Given the description of an element on the screen output the (x, y) to click on. 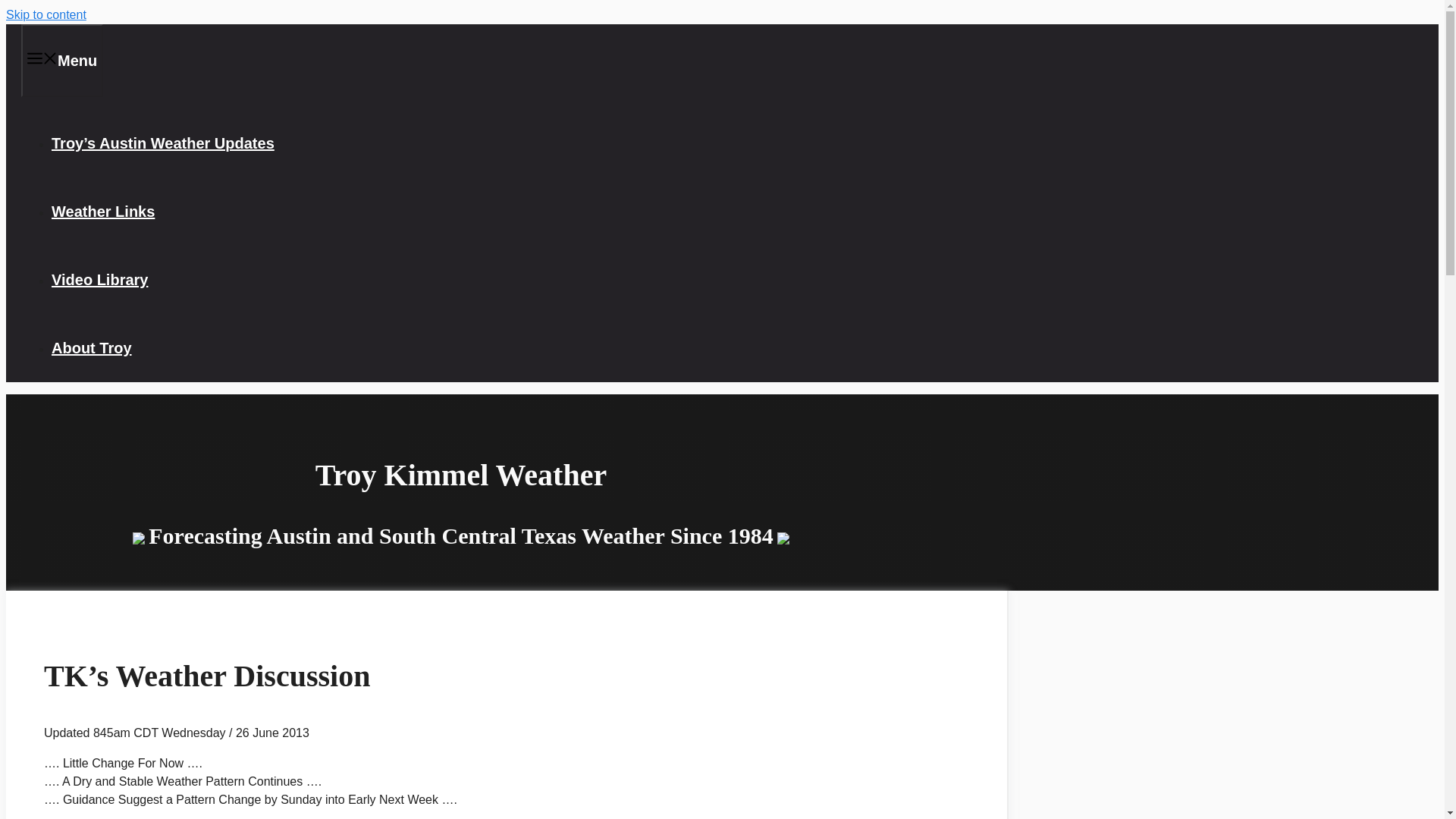
Skip to content (45, 14)
Weather Links (102, 211)
About Troy (91, 347)
Skip to content (45, 14)
Video Library (99, 279)
Menu (62, 60)
